Given the description of an element on the screen output the (x, y) to click on. 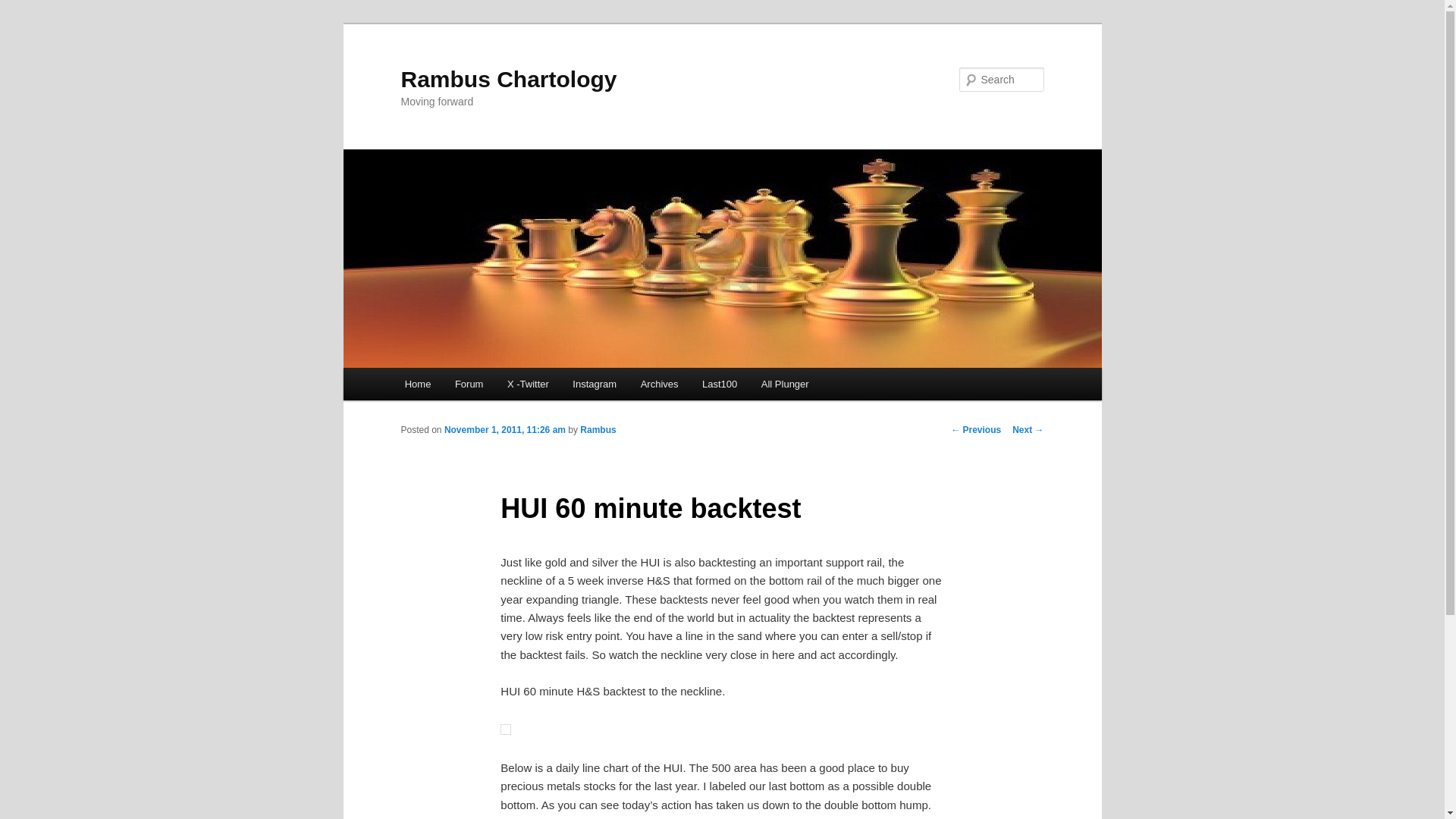
All Plunger (785, 383)
Instagram (594, 383)
November 1, 2011, 11:26 am (505, 429)
View all posts by Rambus (597, 429)
11:26 am (505, 429)
Last100 (719, 383)
Rambus Chartology (507, 78)
Home (417, 383)
Rambus (597, 429)
X -Twitter (527, 383)
